Given the description of an element on the screen output the (x, y) to click on. 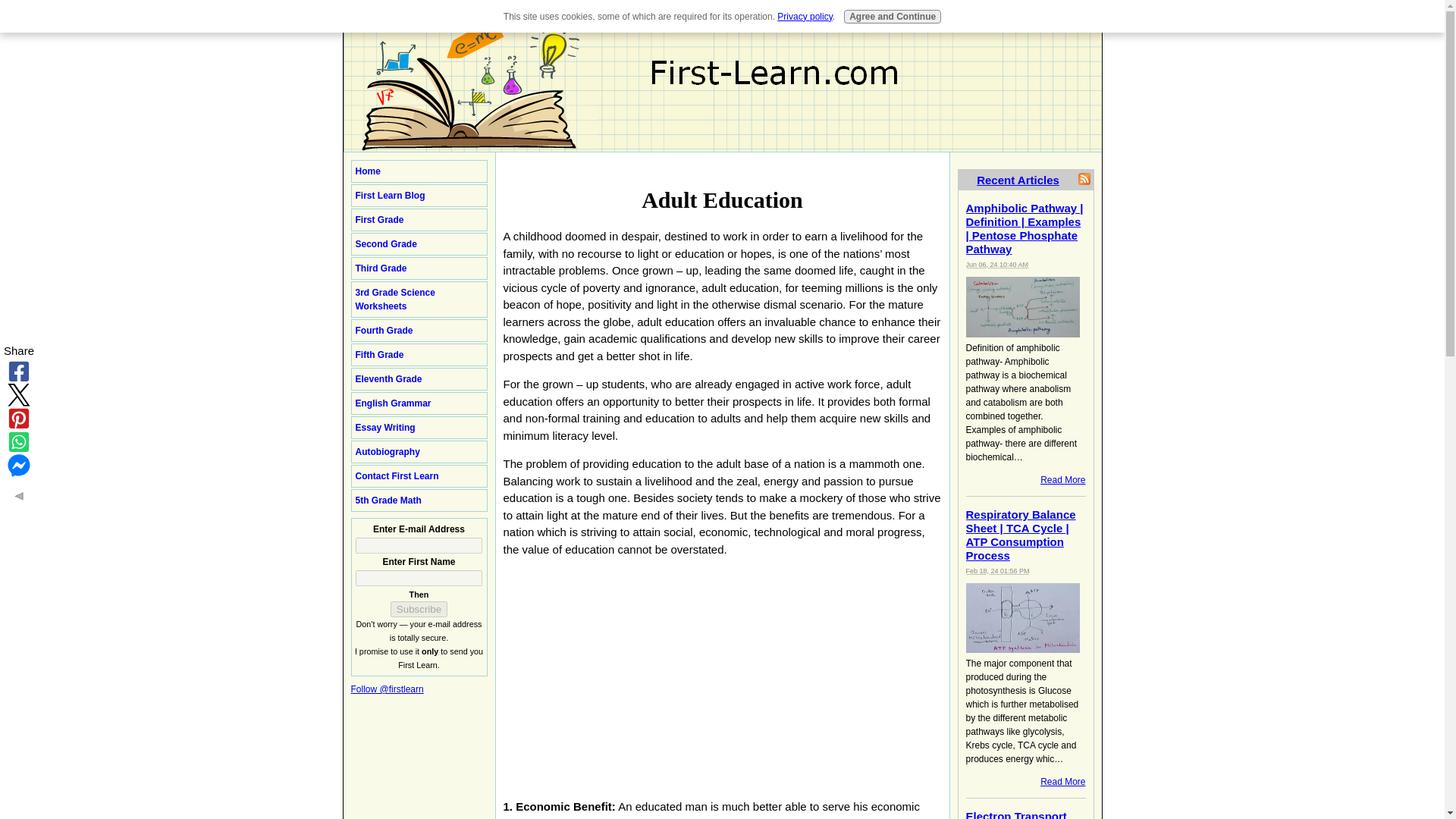
Advertisement (630, 675)
Read More (1062, 781)
Third Grade (418, 268)
Contact First Learn (418, 476)
3rd Grade Science Worksheets (418, 299)
Autobiography (418, 451)
First Learn Blog (418, 195)
First Grade (418, 219)
Essay Writing (418, 427)
Fourth Grade (418, 330)
Eleventh Grade (418, 378)
Read More (1062, 480)
Subscribe (418, 609)
2024-06-06T10:40:21-0400 (997, 264)
Recent Articles (1017, 178)
